Given the description of an element on the screen output the (x, y) to click on. 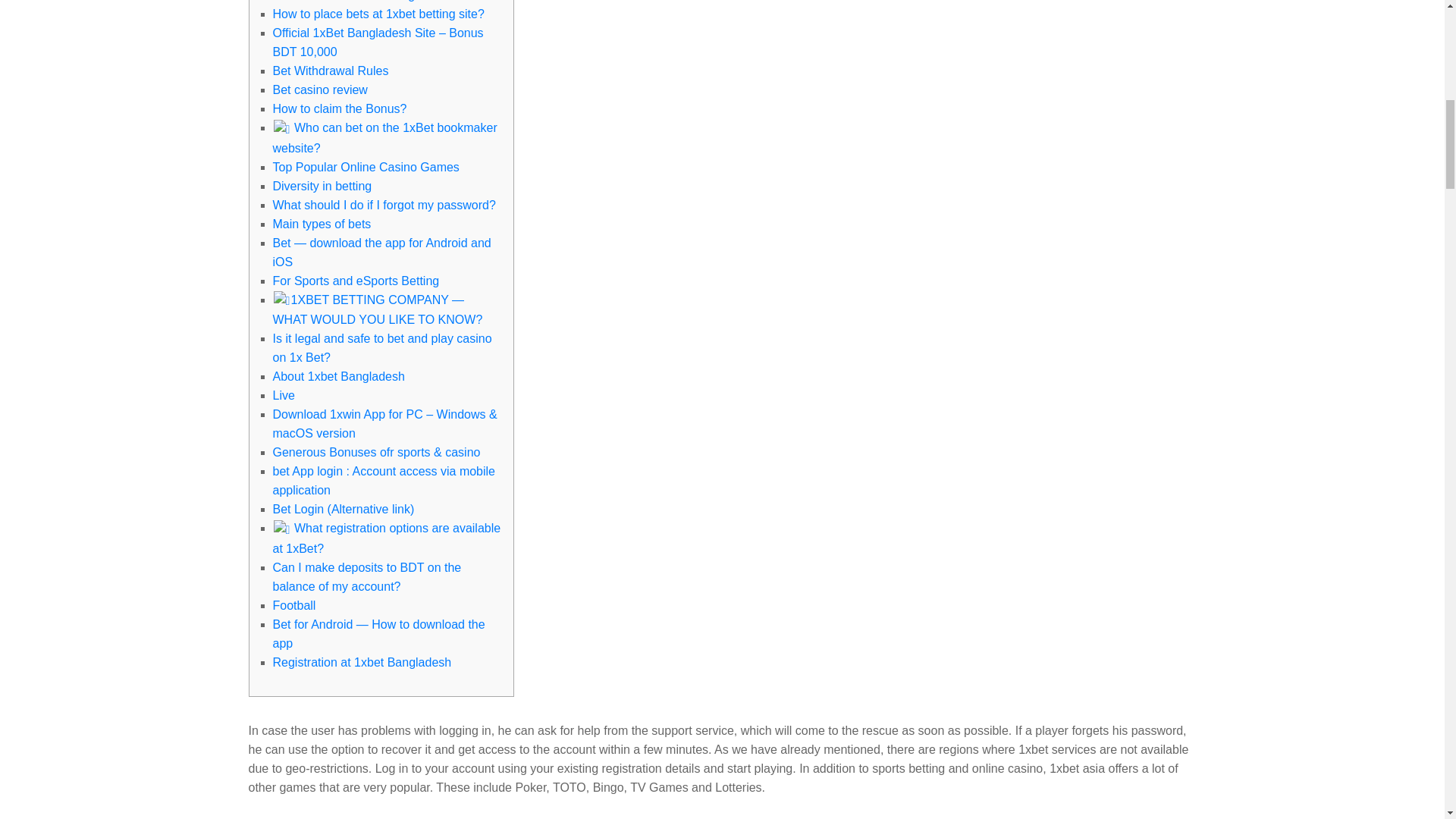
How to claim the Bonus? (340, 108)
Bet Withdrawal Rules (330, 70)
 Who can bet on the 1xBet bookmaker website? (385, 137)
Bet casino review (320, 89)
How to place bets at 1xbet betting site? (378, 13)
